Given the description of an element on the screen output the (x, y) to click on. 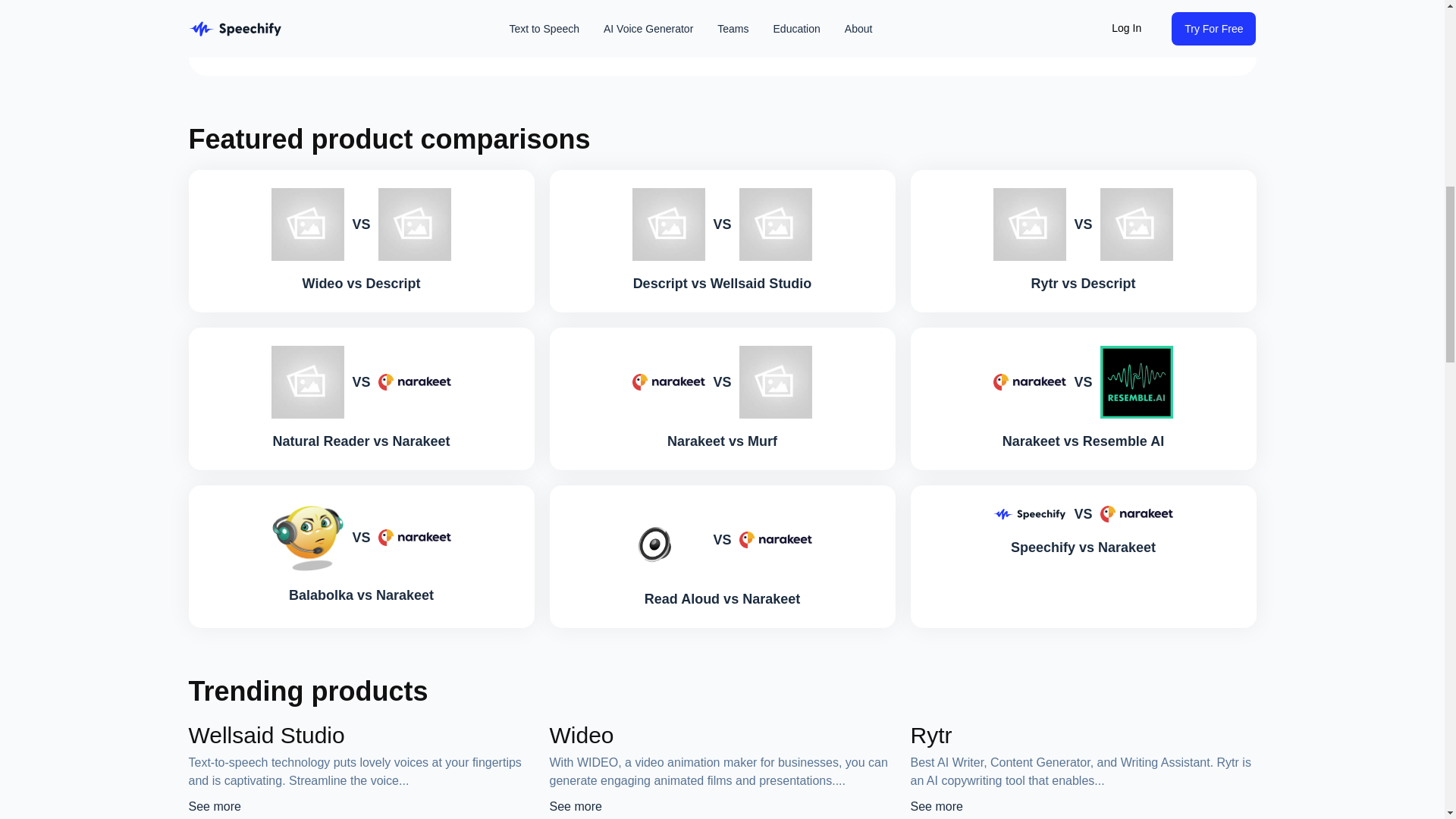
Balabolka vs Narakeet (360, 595)
Rytr (931, 734)
Descript vs Wellsaid Studio (722, 283)
Wellsaid Studio (265, 734)
Natural Reader vs Narakeet (360, 441)
Narakeet vs Murf (721, 441)
Rytr vs Descript (1082, 283)
Wideo vs Descript (361, 283)
See more (213, 806)
Read Aloud vs Narakeet (722, 598)
Speechify vs Narakeet (1083, 547)
See more (574, 806)
Narakeet vs Resemble AI (1083, 441)
Wideo (580, 734)
See more (936, 806)
